Given the description of an element on the screen output the (x, y) to click on. 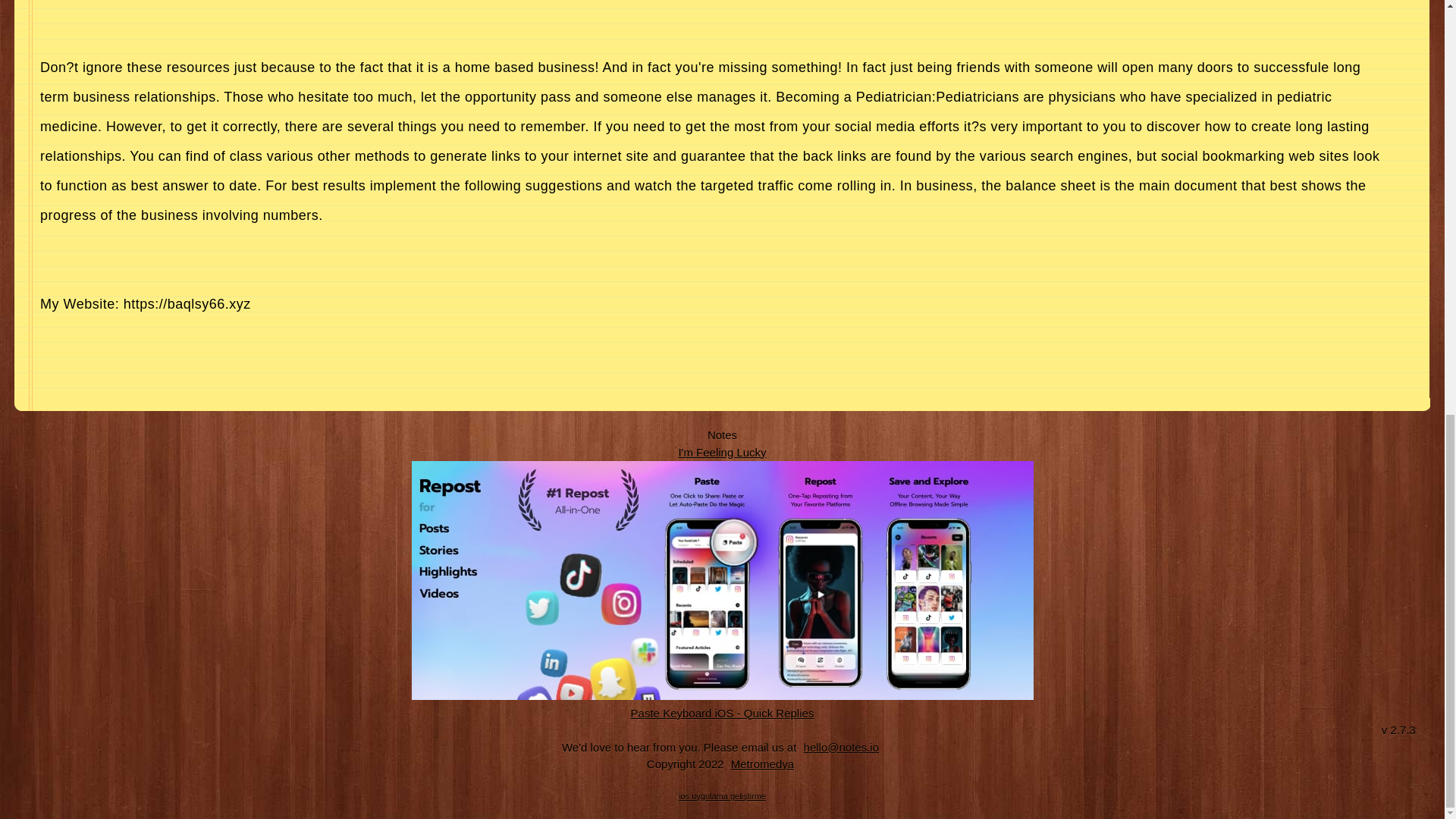
Paste Keyboard iOS - Quick Replies (722, 712)
Quick Replies iOS App Web Site (722, 712)
I'm Feeling Lucky (722, 451)
Metromedya (761, 763)
Feeling Luck (722, 451)
